Given the description of an element on the screen output the (x, y) to click on. 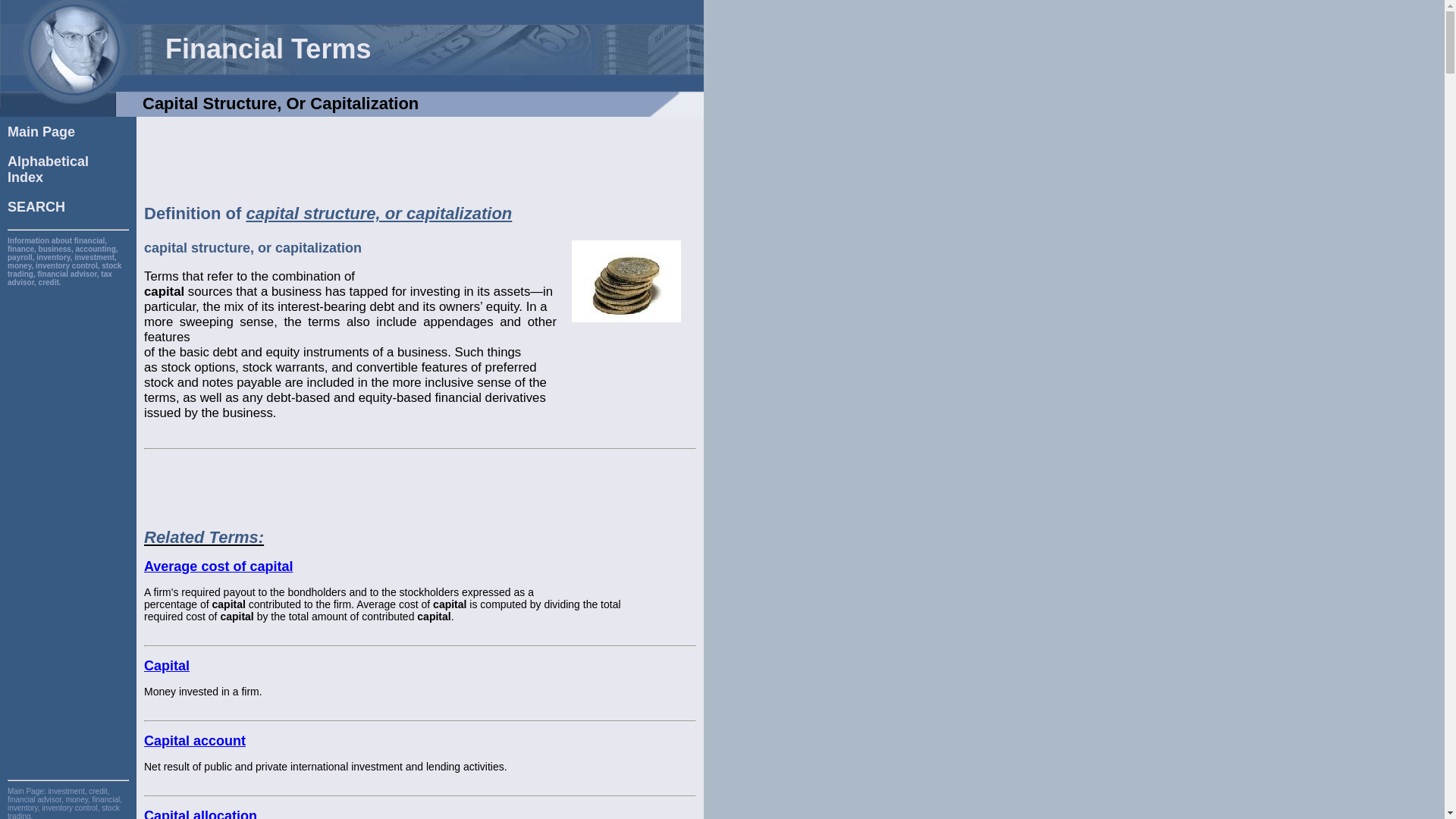
Capital account (47, 169)
Advertisement (195, 740)
Capital (321, 487)
Main Page (166, 665)
Advertisement (41, 131)
Capital allocation (419, 158)
Average cost of capital (200, 813)
SEARCH (218, 566)
